Given the description of an element on the screen output the (x, y) to click on. 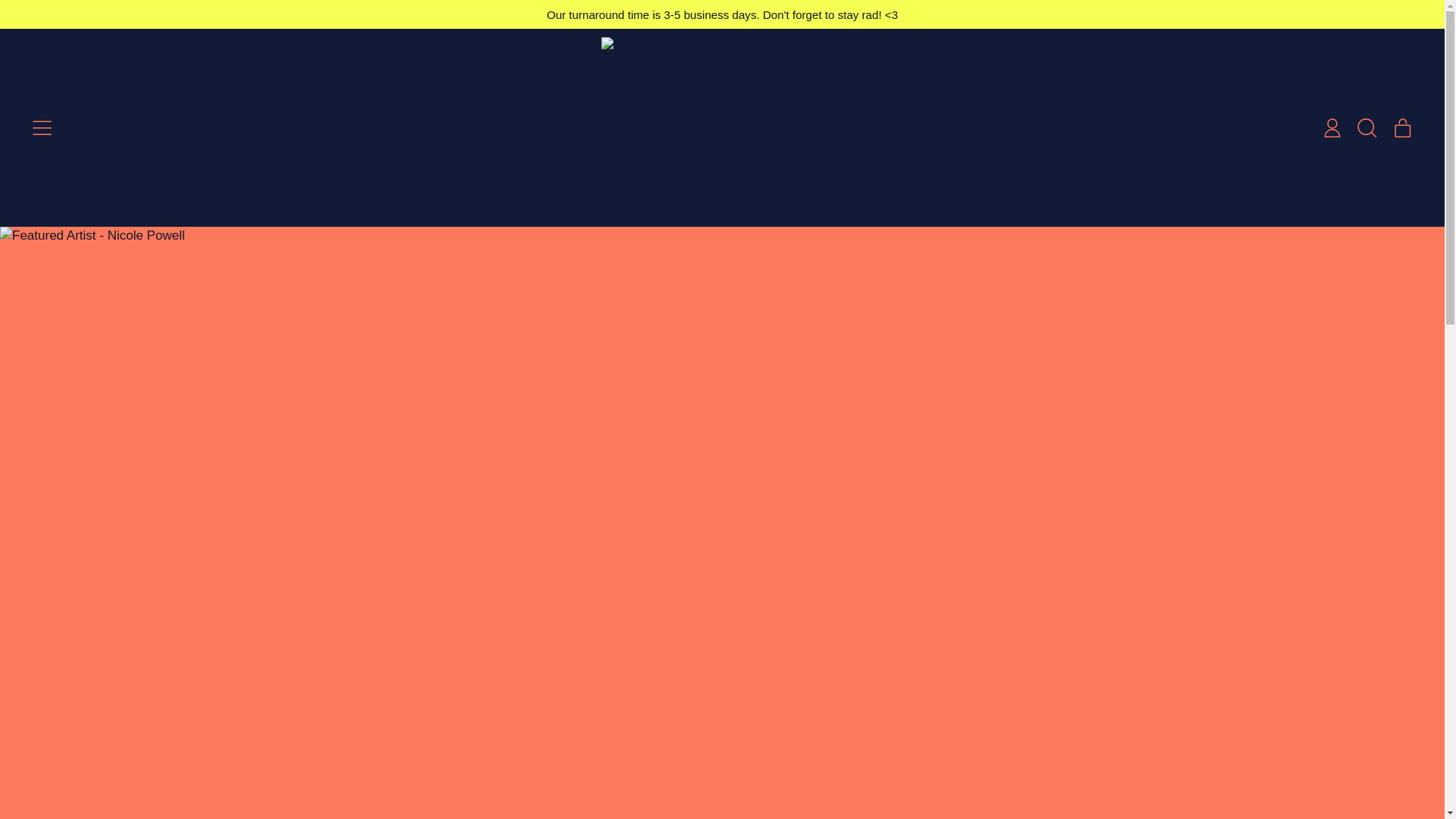
Log in (1402, 127)
Menu (1331, 127)
Search our site (42, 127)
